Given the description of an element on the screen output the (x, y) to click on. 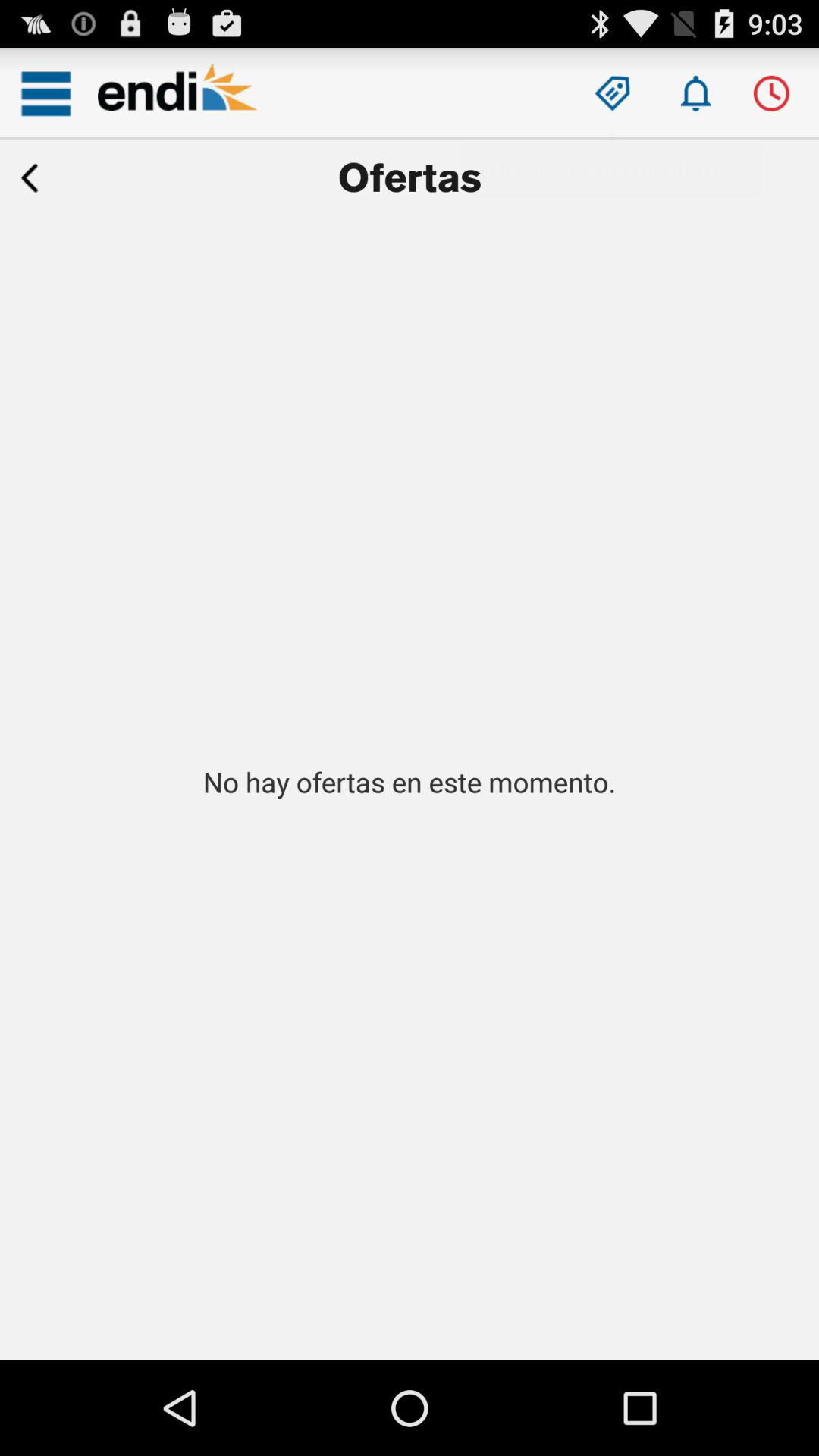
opens a dropdown menu of choices (45, 93)
